Given the description of an element on the screen output the (x, y) to click on. 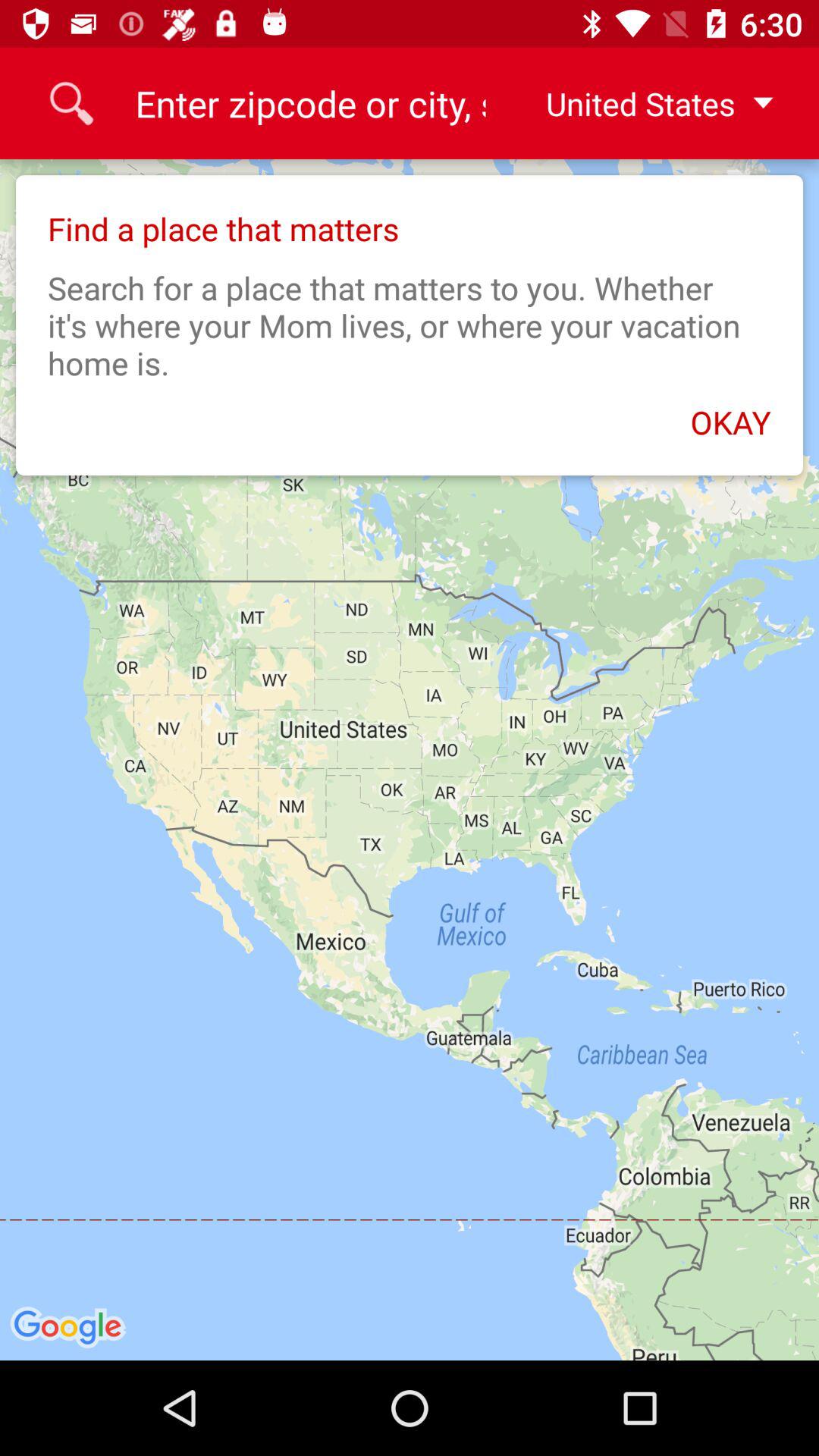
click the icon at the center (409, 759)
